Given the description of an element on the screen output the (x, y) to click on. 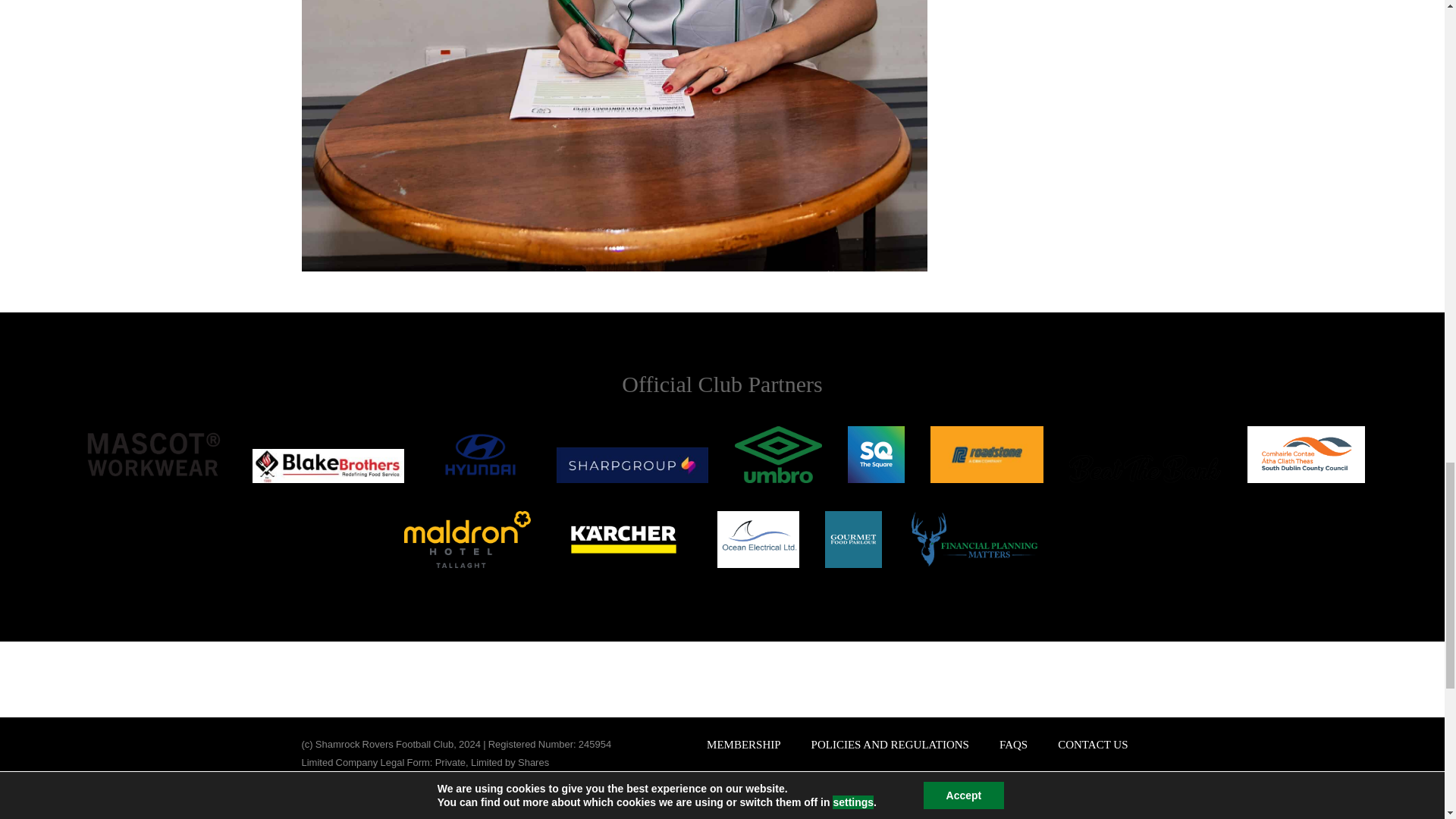
Blake Brothers (327, 465)
Hyundai (480, 454)
Umbro (778, 454)
The Square (875, 454)
Sharp Group (631, 465)
Ocean Electrical (758, 539)
South Dublin County Council (1306, 454)
Roadstone (986, 454)
Maldron (467, 539)
Beat the Bank (1144, 469)
